Given the description of an element on the screen output the (x, y) to click on. 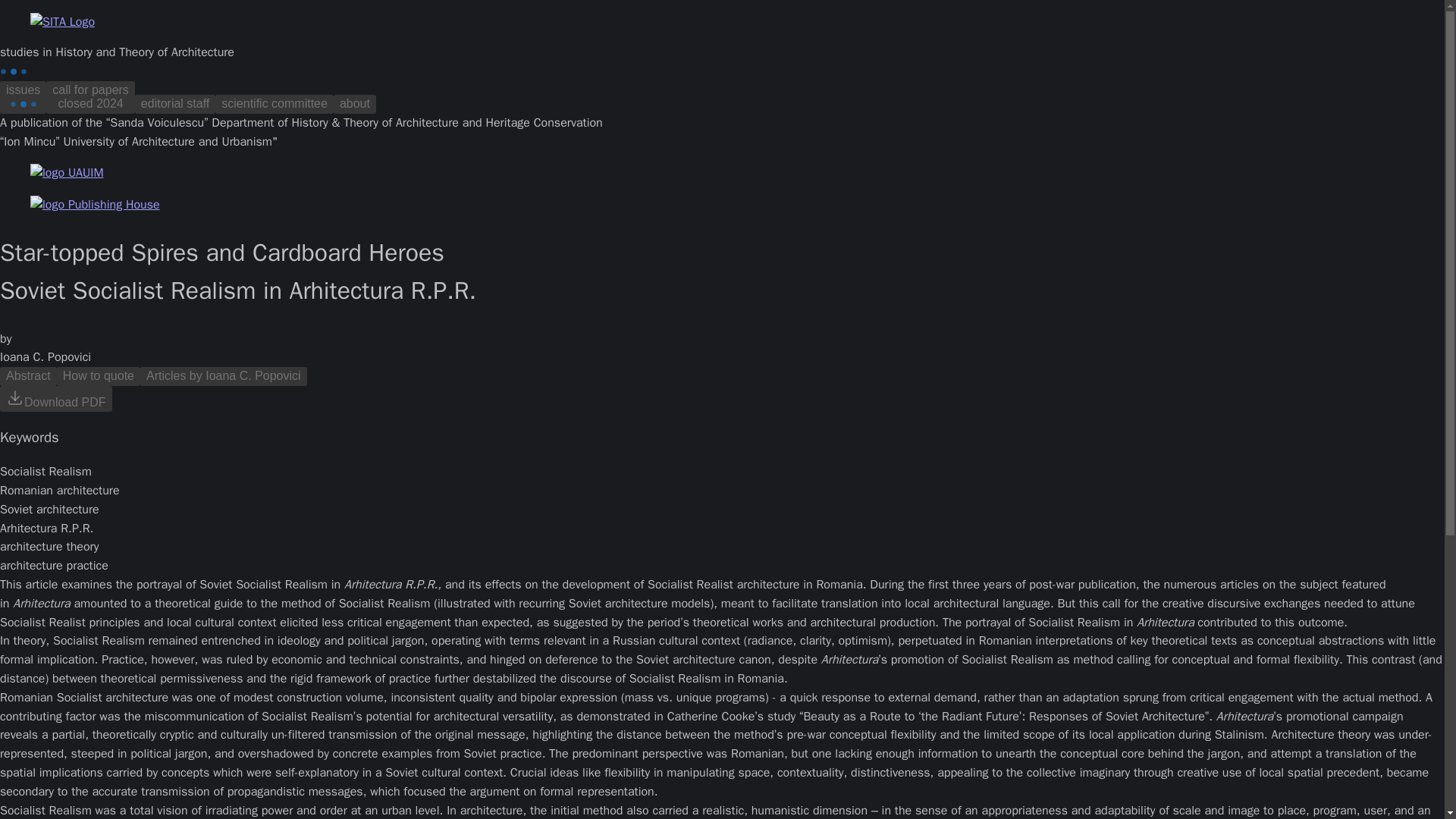
Download PDF (90, 97)
issues (56, 402)
Articles by Ioana C. Popovici (23, 97)
Download PDF (223, 375)
Abstract (56, 398)
scientific committee (28, 375)
How to quote (274, 104)
about (97, 375)
editorial staff (354, 104)
